Given the description of an element on the screen output the (x, y) to click on. 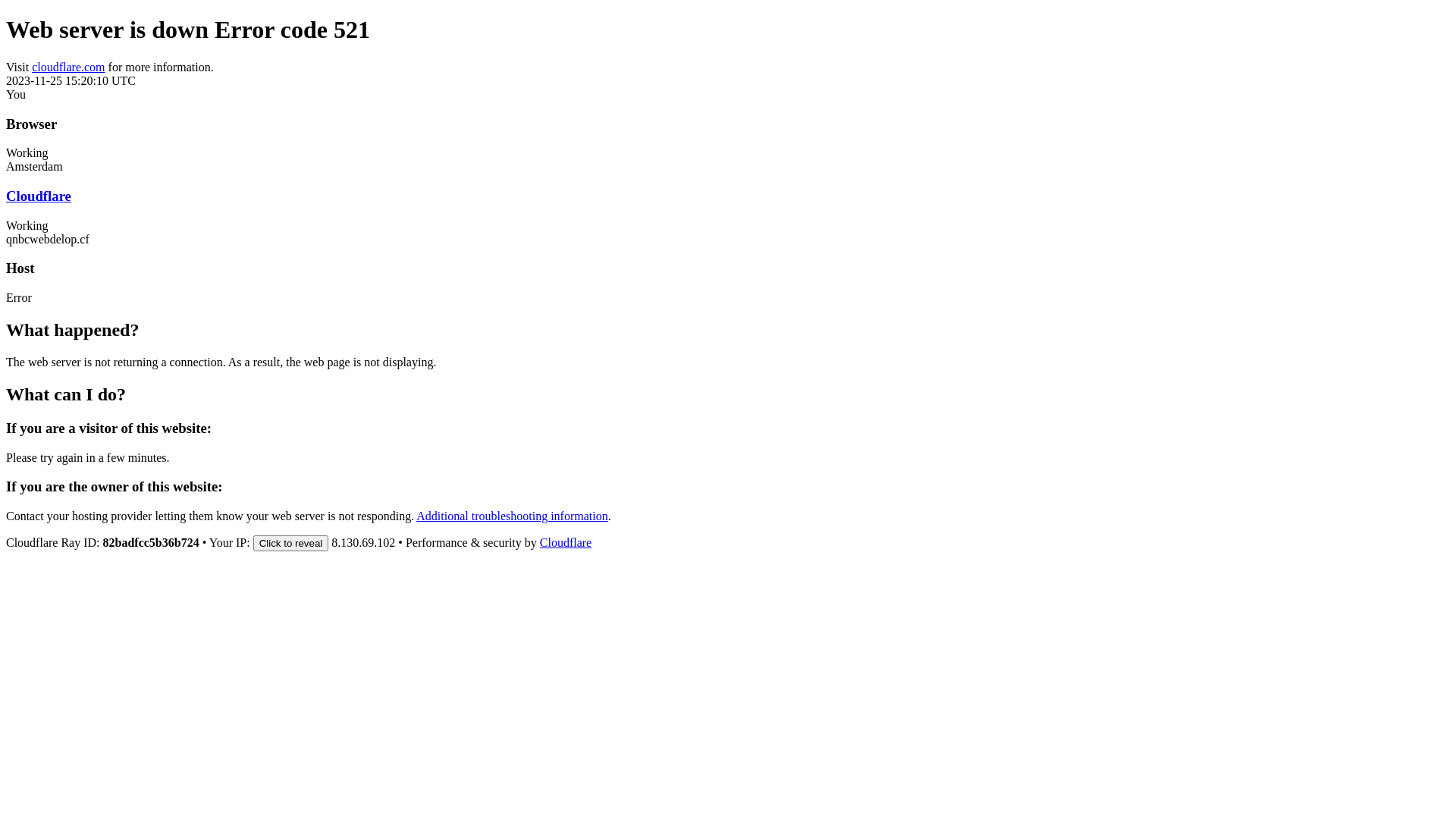
Cloudflare Element type: text (38, 195)
Cloudflare Element type: text (565, 542)
Additional troubleshooting information Element type: text (511, 515)
cloudflare.com Element type: text (67, 66)
Click to reveal Element type: text (291, 543)
